Given the description of an element on the screen output the (x, y) to click on. 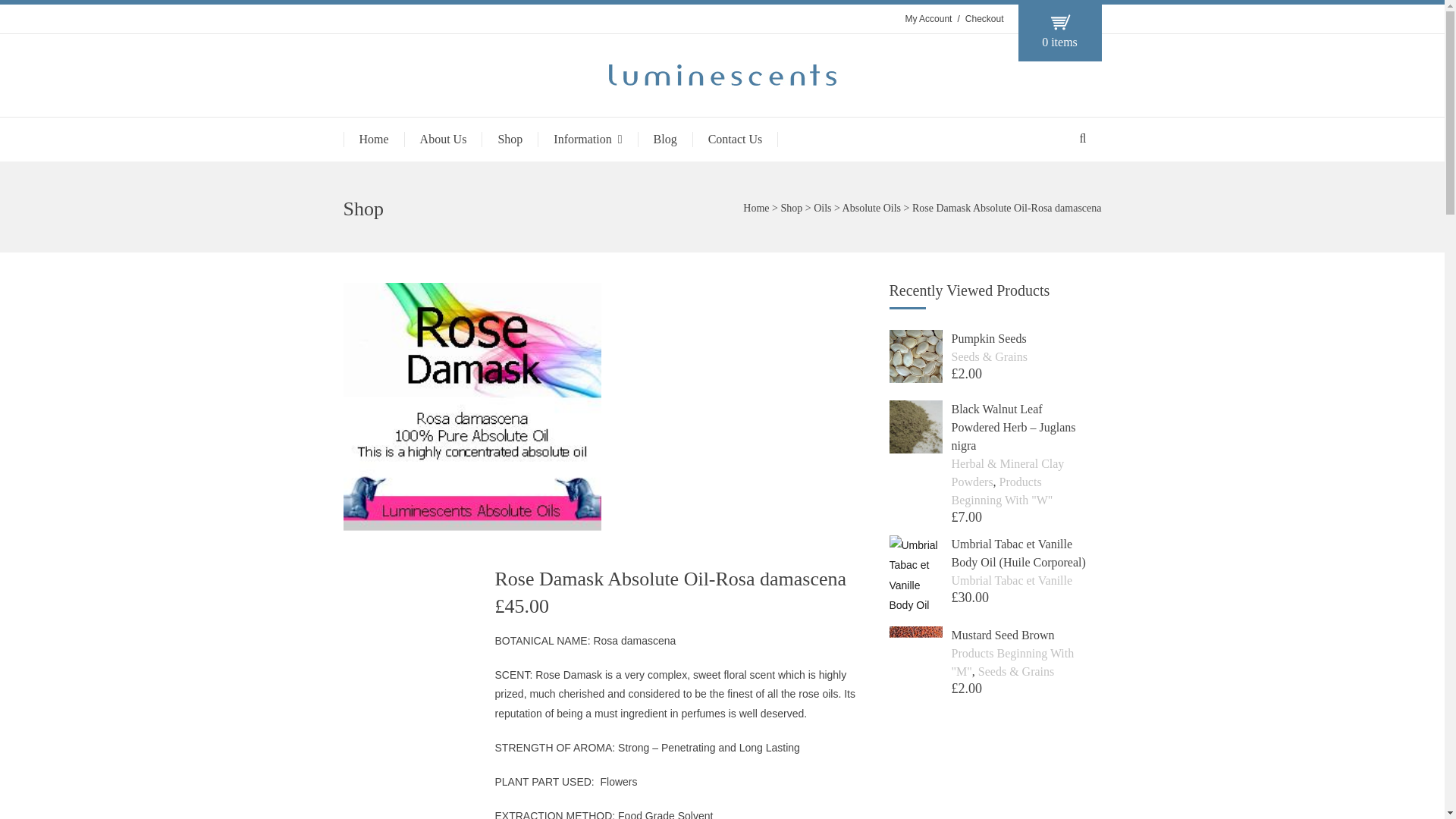
My Account (928, 18)
Information (587, 139)
Shop (509, 139)
Shop (791, 207)
Home (755, 207)
Absolute Oils (872, 207)
Oils (822, 207)
Contact Us (735, 139)
Blog (665, 139)
rose damask (470, 406)
